Given the description of an element on the screen output the (x, y) to click on. 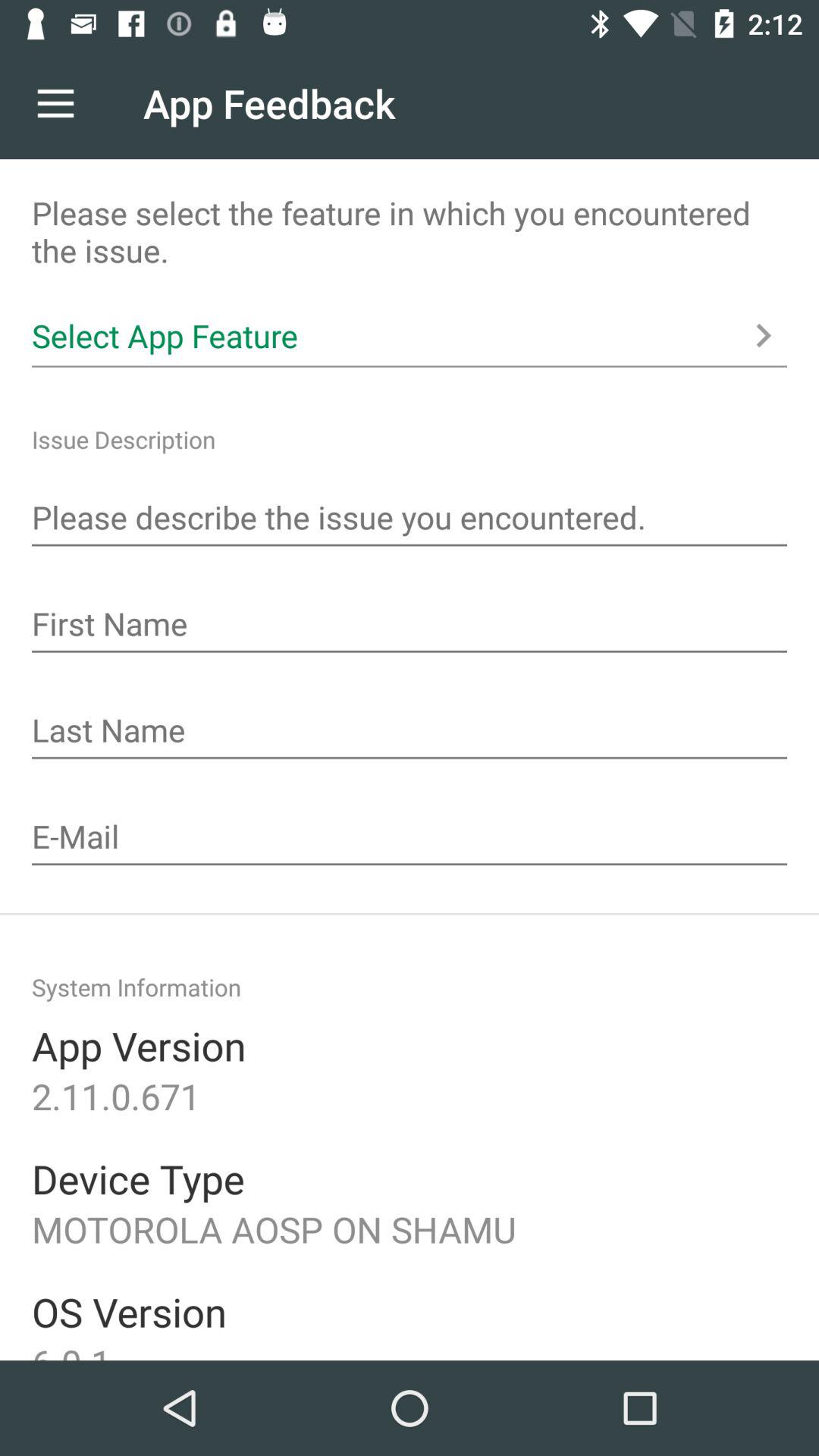
input e-mail address (409, 838)
